Given the description of an element on the screen output the (x, y) to click on. 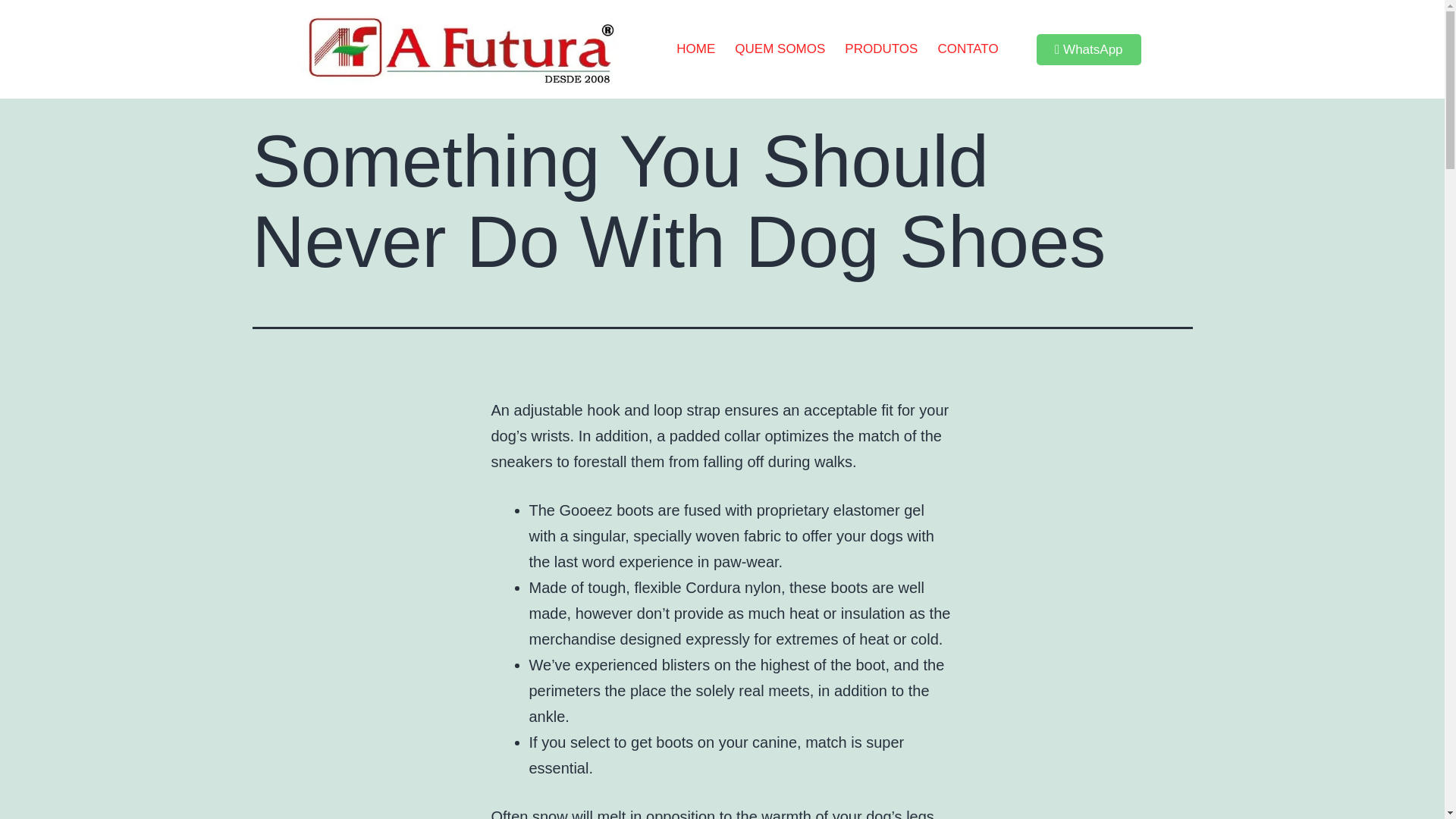
CONTATO (967, 48)
WhatsApp (1088, 49)
QUEM SOMOS (779, 48)
PRODUTOS (880, 48)
HOME (695, 48)
